Given the description of an element on the screen output the (x, y) to click on. 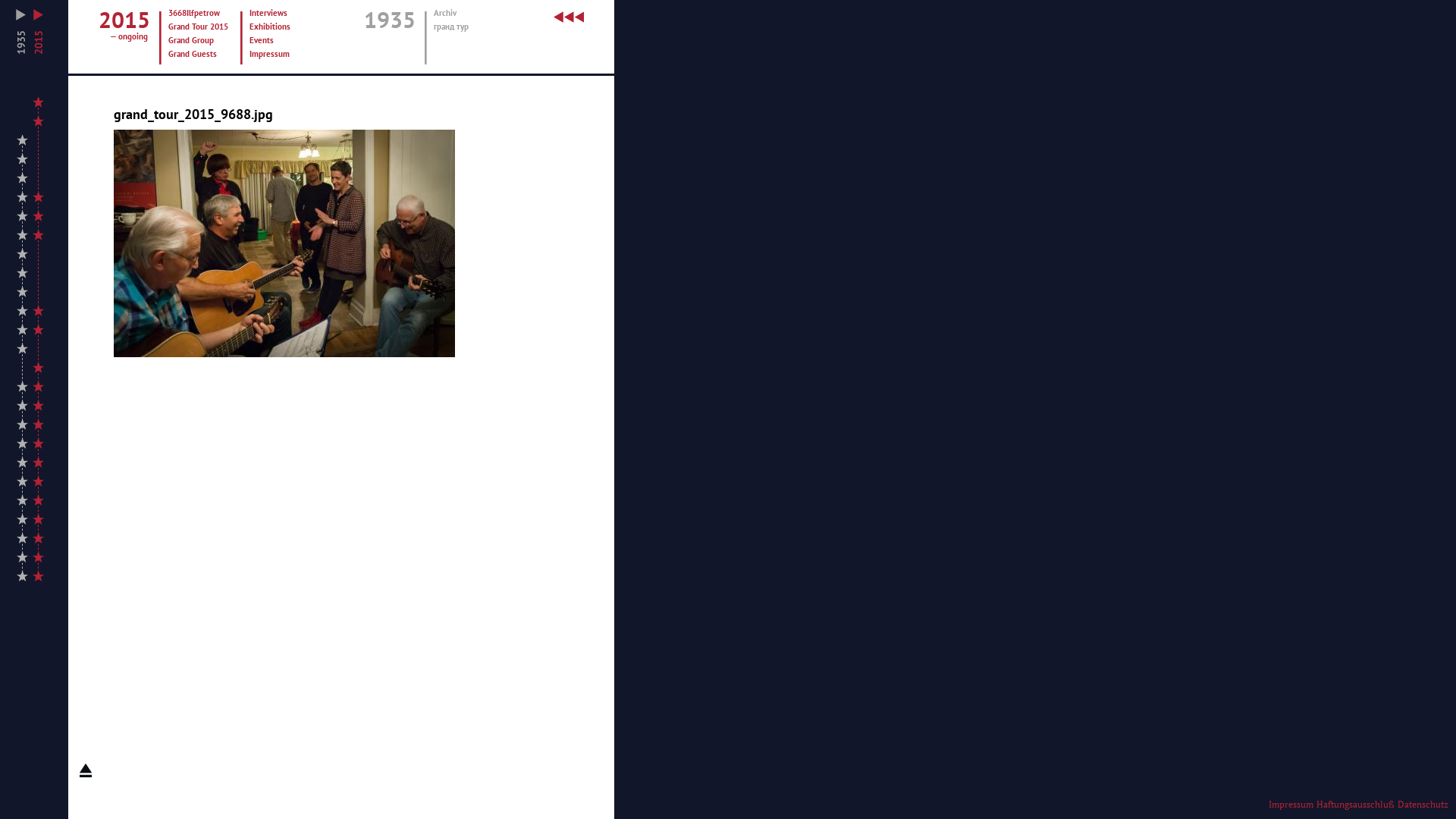
Impressum Element type: text (1290, 803)
3668Ilfpetrow Element type: text (199, 13)
Events Element type: text (280, 40)
2015 Element type: text (37, 31)
Grand Tour 2015 Element type: text (199, 27)
Interviews Element type: text (280, 13)
Grand Guests Element type: text (199, 54)
Archiv Element type: text (458, 13)
Direkt zum Inhalt Element type: text (48, 0)
Top Element type: text (85, 770)
Startseite Element type: text (568, 26)
1935 Element type: text (20, 31)
Datenschutz Element type: text (1422, 803)
Grand Group Element type: text (199, 40)
Exhibitions Element type: text (280, 27)
Impressum Element type: text (280, 54)
